Given the description of an element on the screen output the (x, y) to click on. 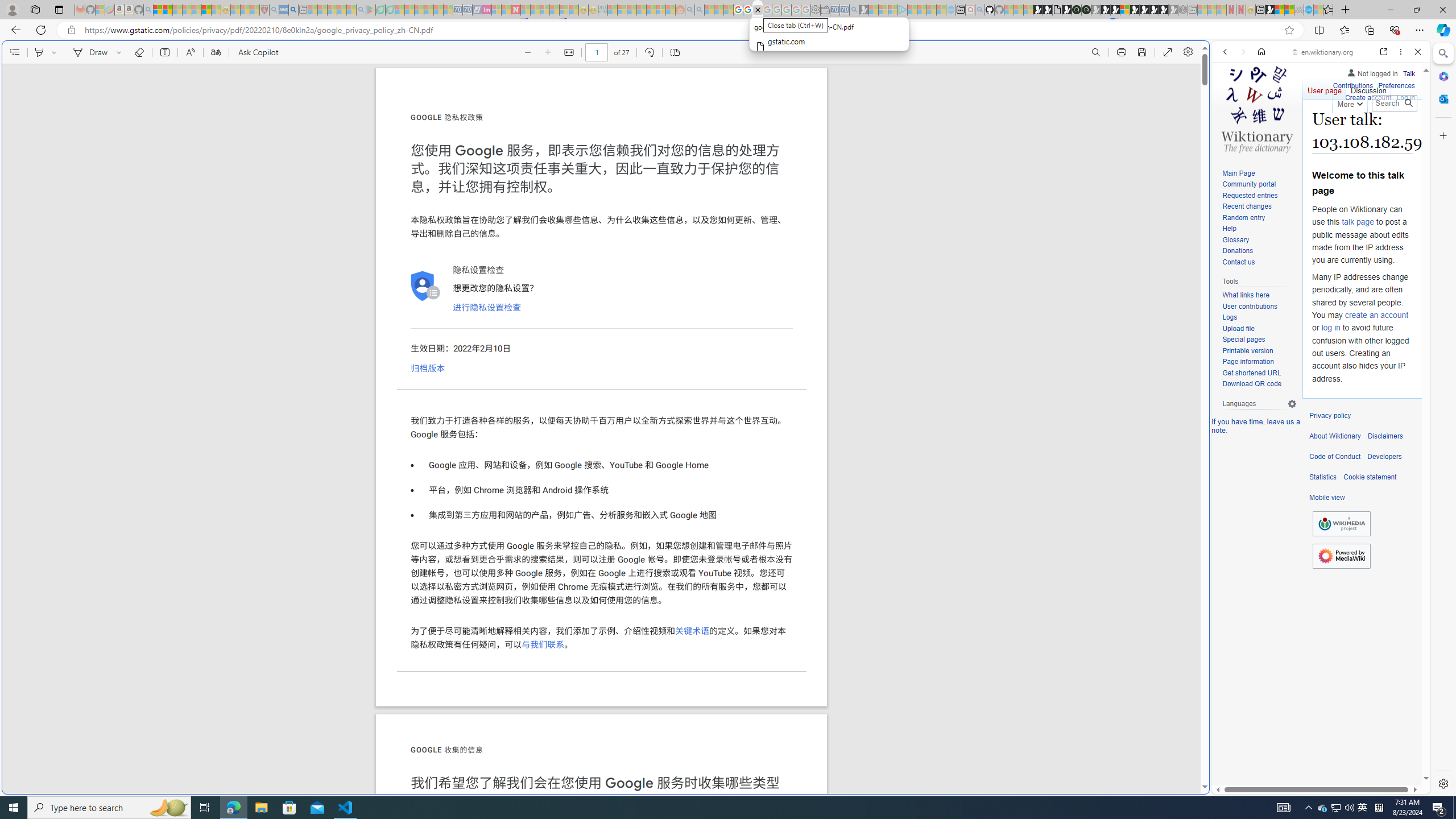
App bar (728, 29)
Not logged in (1371, 71)
Preferences (1396, 85)
PDF bar (601, 51)
Wallet - Sleeping (824, 9)
Erase (138, 52)
MSN (1118, 536)
More options (1401, 51)
Local - MSN - Sleeping (254, 9)
Wiktionary (1315, 380)
Discussion (1367, 87)
